Given the description of an element on the screen output the (x, y) to click on. 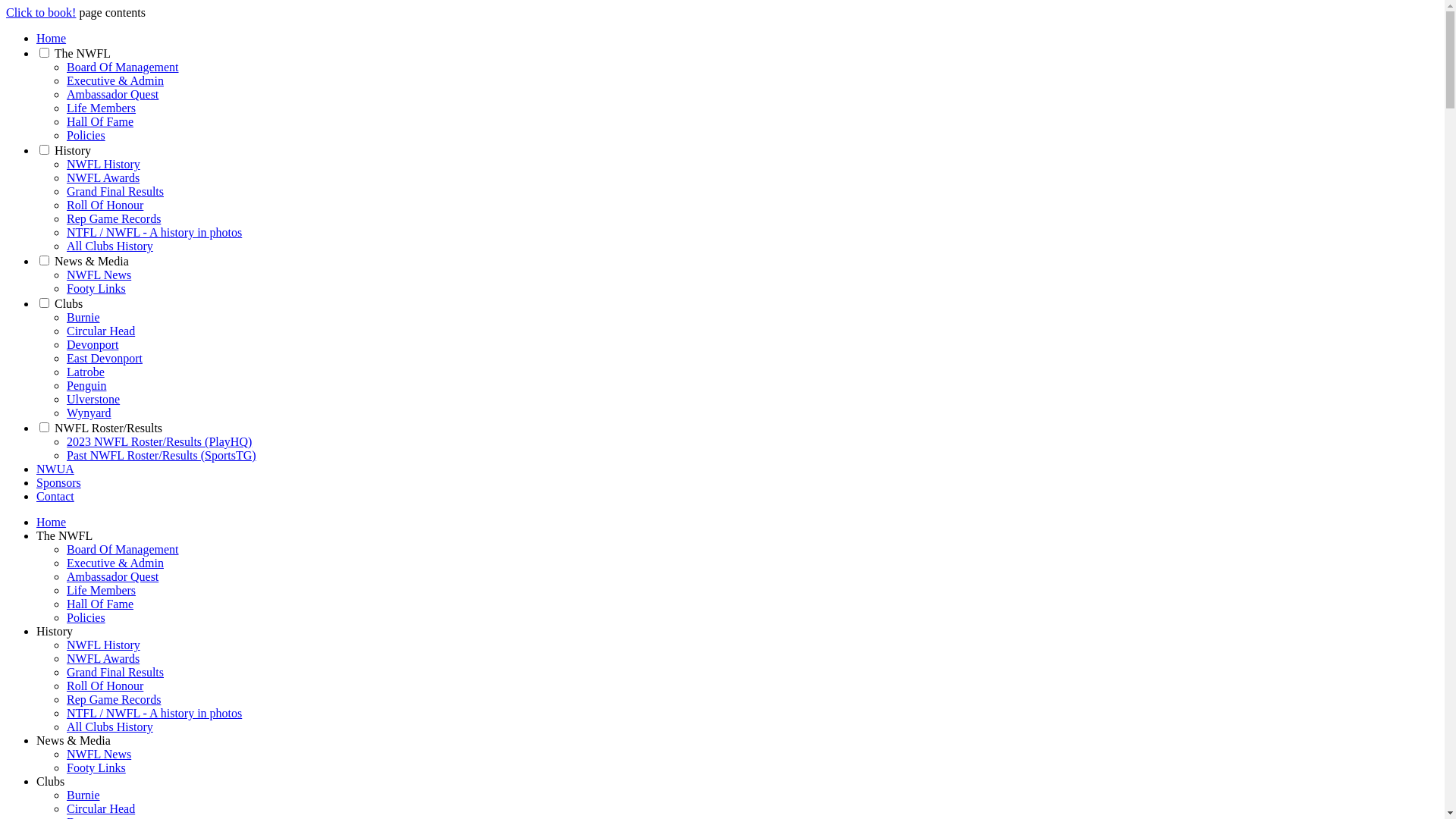
The NWFL Element type: text (82, 53)
NWFL News Element type: text (98, 274)
Rep Game Records Element type: text (113, 218)
Board Of Management Element type: text (122, 548)
NWFL Awards Element type: text (102, 177)
Home Element type: text (50, 521)
Hall Of Fame Element type: text (99, 121)
NWFL Awards Element type: text (102, 658)
Hall Of Fame Element type: text (99, 603)
Burnie Element type: text (83, 316)
Ulverstone Element type: text (92, 398)
All Clubs History Element type: text (109, 726)
Wynyard Element type: text (88, 412)
News & Media Element type: text (91, 260)
Roll Of Honour Element type: text (104, 204)
Home Element type: text (50, 37)
NWFL Roster/Results Element type: text (108, 427)
Policies Element type: text (85, 617)
Devonport Element type: text (92, 344)
Contact Element type: text (55, 495)
Life Members Element type: text (100, 589)
NTFL / NWFL - A history in photos Element type: text (153, 231)
Executive & Admin Element type: text (114, 562)
Executive & Admin Element type: text (114, 80)
All Clubs History Element type: text (109, 245)
Sponsors Element type: text (58, 482)
News & Media Element type: text (73, 740)
Penguin Element type: text (86, 385)
NWFL News Element type: text (98, 753)
History Element type: text (54, 630)
Clubs Element type: text (50, 781)
History Element type: text (72, 150)
2023 NWFL Roster/Results (PlayHQ) Element type: text (158, 441)
Latrobe Element type: text (85, 371)
Circular Head Element type: text (100, 808)
Grand Final Results Element type: text (114, 191)
Circular Head Element type: text (100, 330)
Ambassador Quest Element type: text (112, 576)
Rep Game Records Element type: text (113, 699)
Roll Of Honour Element type: text (104, 685)
Footy Links Element type: text (95, 767)
Footy Links Element type: text (95, 288)
Life Members Element type: text (100, 107)
Ambassador Quest Element type: text (112, 93)
East Devonport Element type: text (104, 357)
Policies Element type: text (85, 134)
NWFL History Element type: text (103, 163)
Past NWFL Roster/Results (SportsTG) Element type: text (161, 454)
NWUA Element type: text (55, 468)
NWFL History Element type: text (103, 644)
Grand Final Results Element type: text (114, 671)
Burnie Element type: text (83, 794)
Board Of Management Element type: text (122, 66)
Clubs Element type: text (68, 303)
The NWFL Element type: text (64, 535)
NTFL / NWFL - A history in photos Element type: text (153, 712)
Click to book! Element type: text (40, 12)
